Given the description of an element on the screen output the (x, y) to click on. 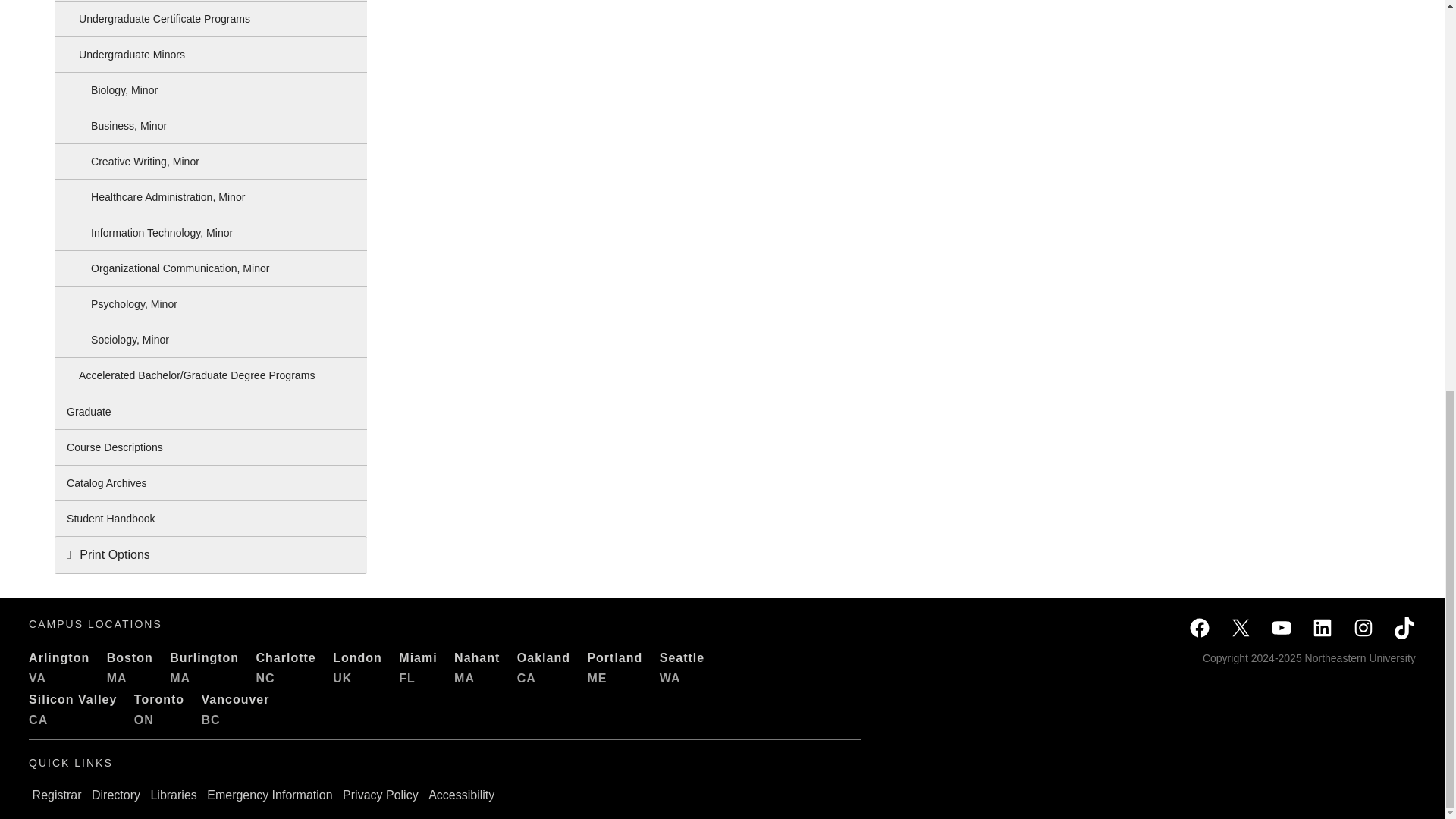
Healthcare Administration, Minor (210, 196)
Creative Writing, Minor (210, 161)
Course Descriptions (210, 447)
Organizational Communication, Minor (210, 267)
Psychology, Minor (210, 303)
Catalog Archives (210, 483)
Undergraduate Minors (210, 54)
Graduate (210, 411)
Undergraduate Certificate Programs (210, 18)
Business, Minor (210, 125)
Information Technology, Minor (210, 232)
Biology, Minor (210, 89)
Sociology, Minor (210, 339)
